Given the description of an element on the screen output the (x, y) to click on. 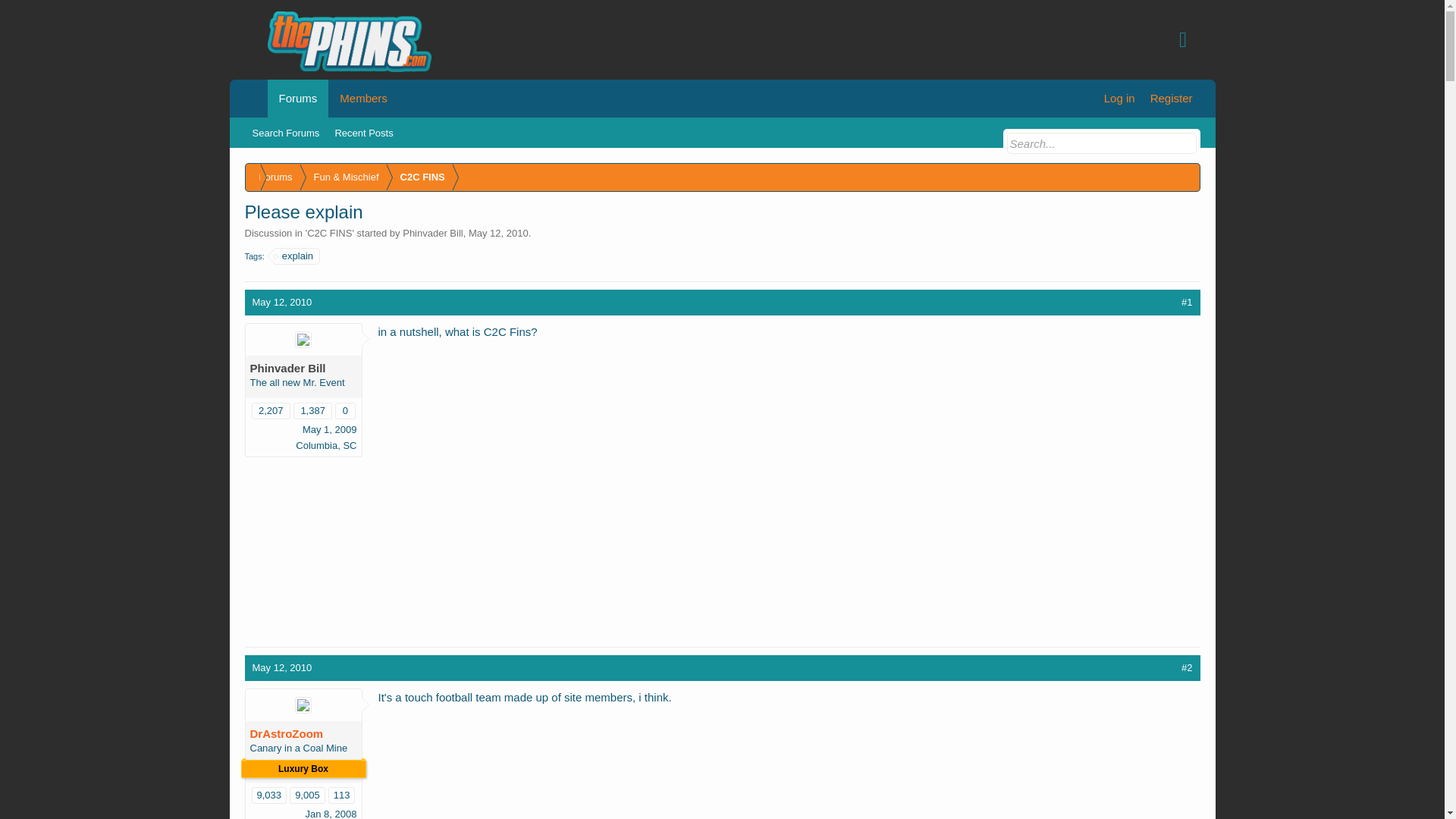
Permalink (281, 301)
Forums (272, 177)
explain (297, 256)
Forums (297, 98)
Recent Posts (363, 133)
Register (1170, 98)
Permalink (1186, 301)
Phinvader Bill (433, 233)
Enter your search and hit enter (1101, 142)
C2C FINS (329, 233)
